Given the description of an element on the screen output the (x, y) to click on. 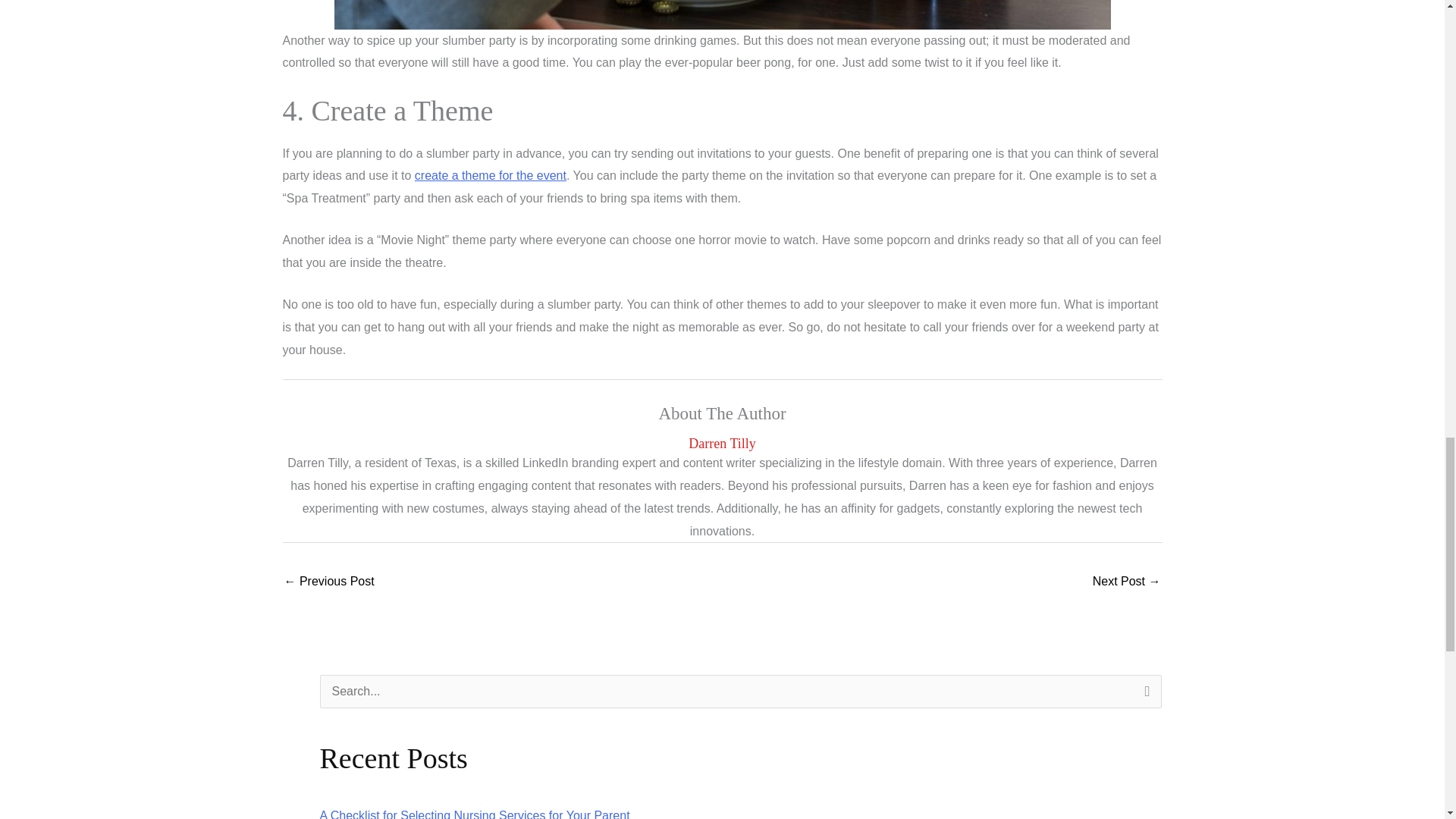
A Checklist for Selecting Nursing Services for Your Parent (475, 814)
LoveToKnow (490, 174)
Darren Tilly (721, 443)
create a theme for the event (490, 174)
3 Ways to Fund Your Granny Flat Construction Project (328, 582)
